Given the description of an element on the screen output the (x, y) to click on. 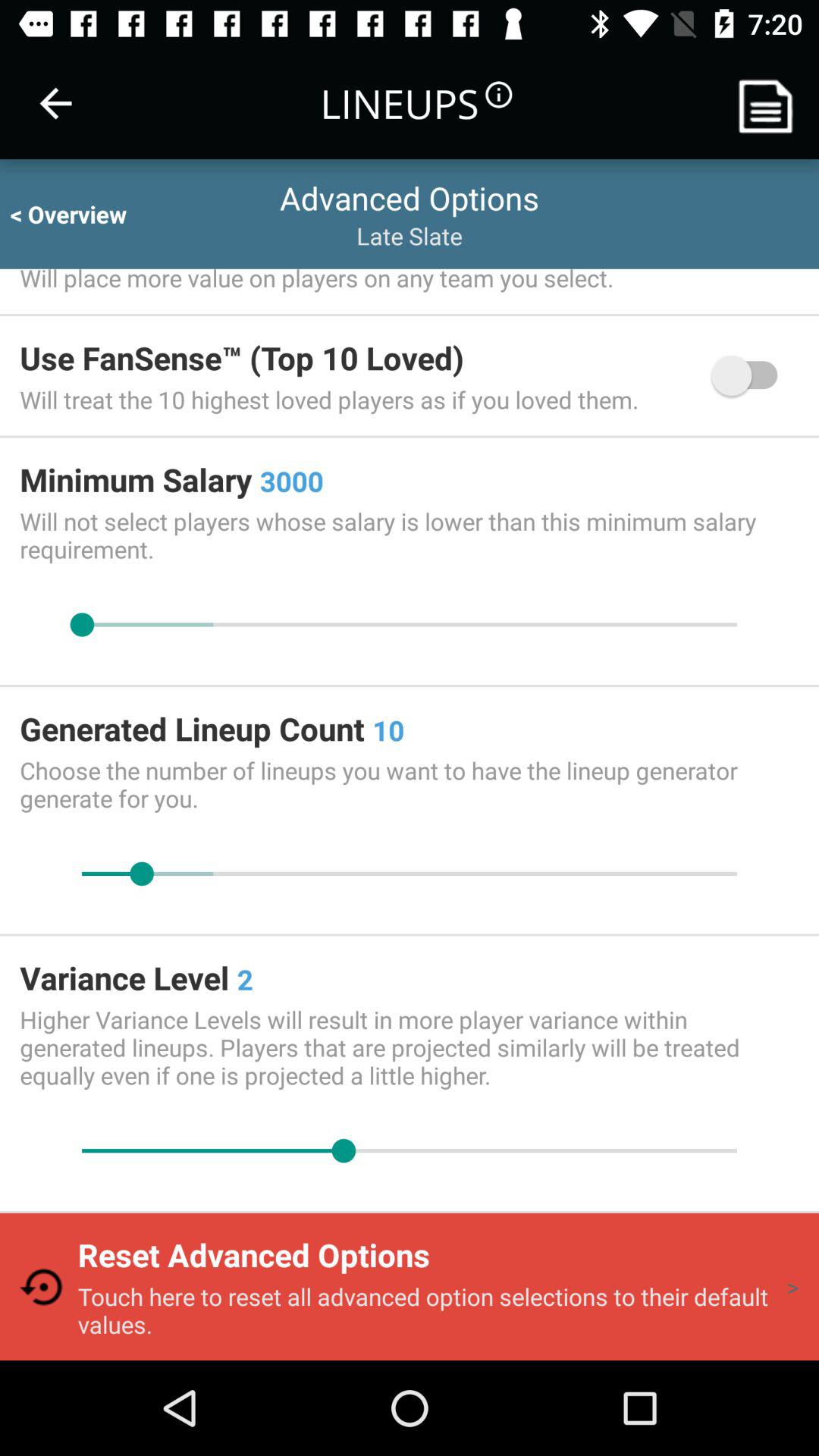
toggle fansense option (751, 375)
